Given the description of an element on the screen output the (x, y) to click on. 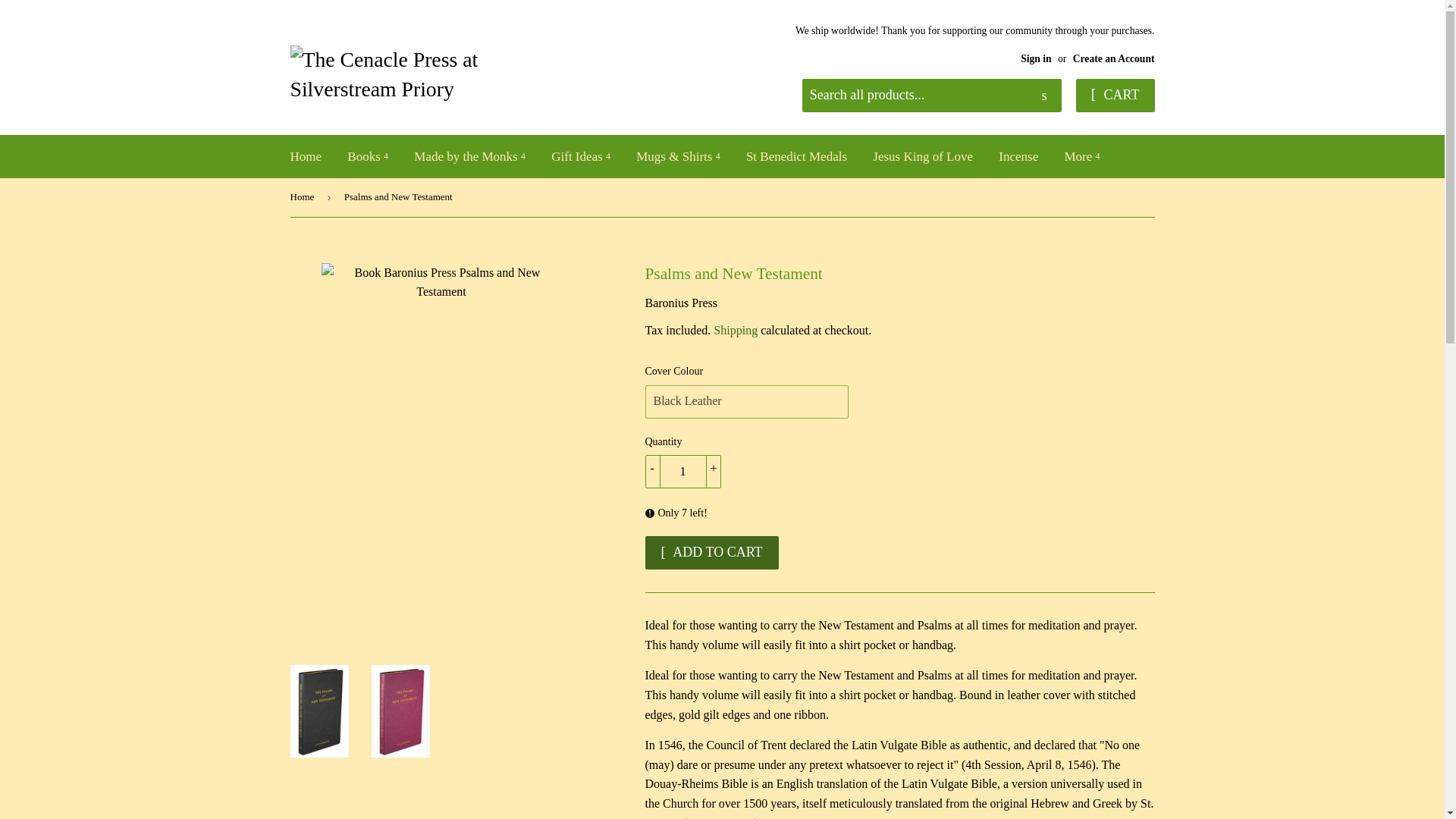
Search (1044, 96)
1 (682, 471)
CART (1114, 95)
Create an Account (1113, 58)
Sign in (1035, 58)
